Given the description of an element on the screen output the (x, y) to click on. 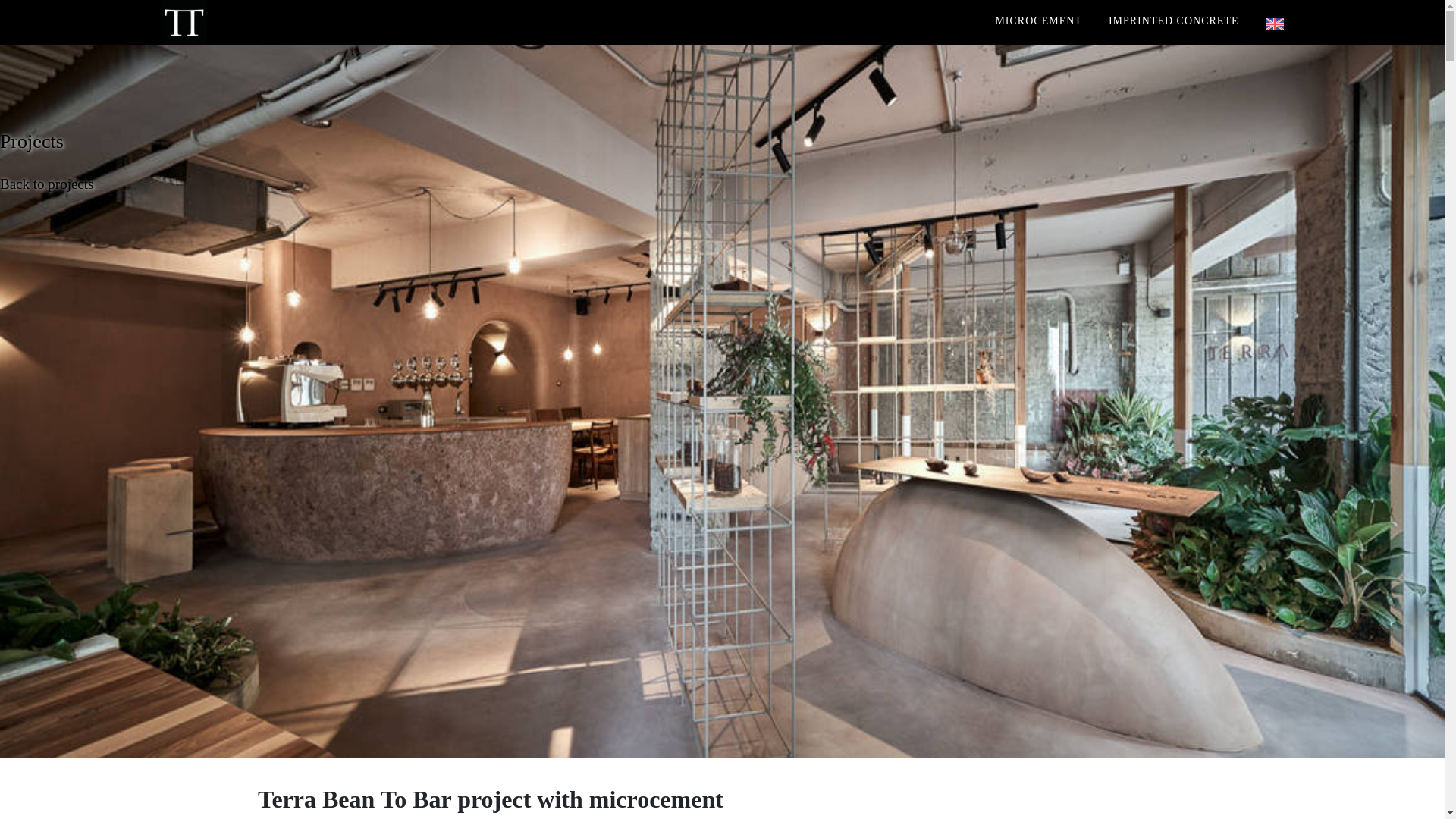
IMPRINTED CONCRETE (1173, 20)
MICROCEMENT (1037, 20)
Back to projects (46, 183)
Topciment en (1273, 24)
Projects (32, 141)
